Given the description of an element on the screen output the (x, y) to click on. 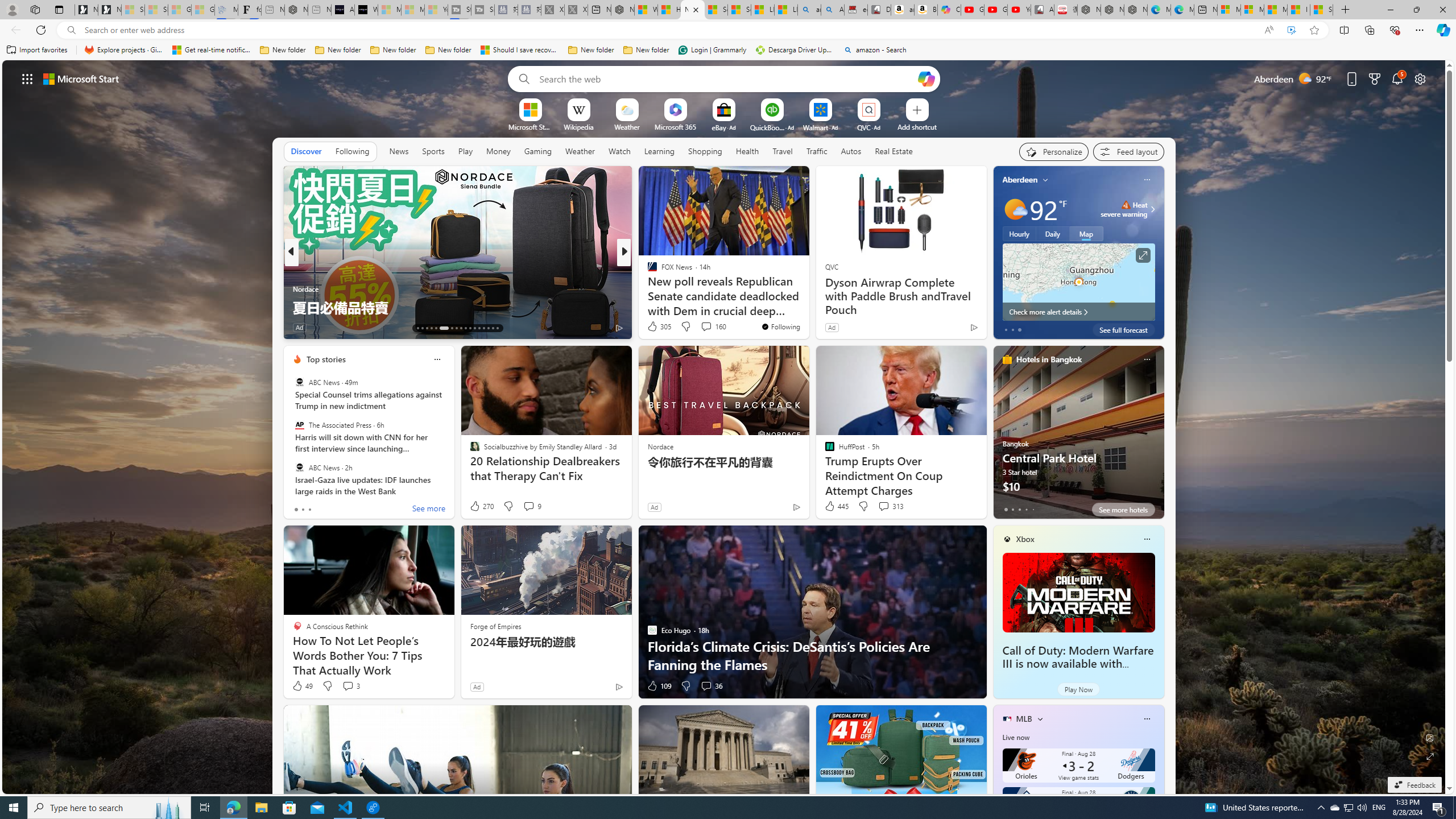
Washington Examiner (647, 270)
View comments 6 Comment (705, 327)
Lemon Impossible Pie - The Easiest Pie You'll Ever Make! (807, 298)
Forge of Empires (495, 625)
Like (648, 327)
View comments 1k Comment (698, 327)
AutomationID: tab-16 (431, 328)
Learning (659, 151)
See more (428, 509)
Travel (782, 151)
